Given the description of an element on the screen output the (x, y) to click on. 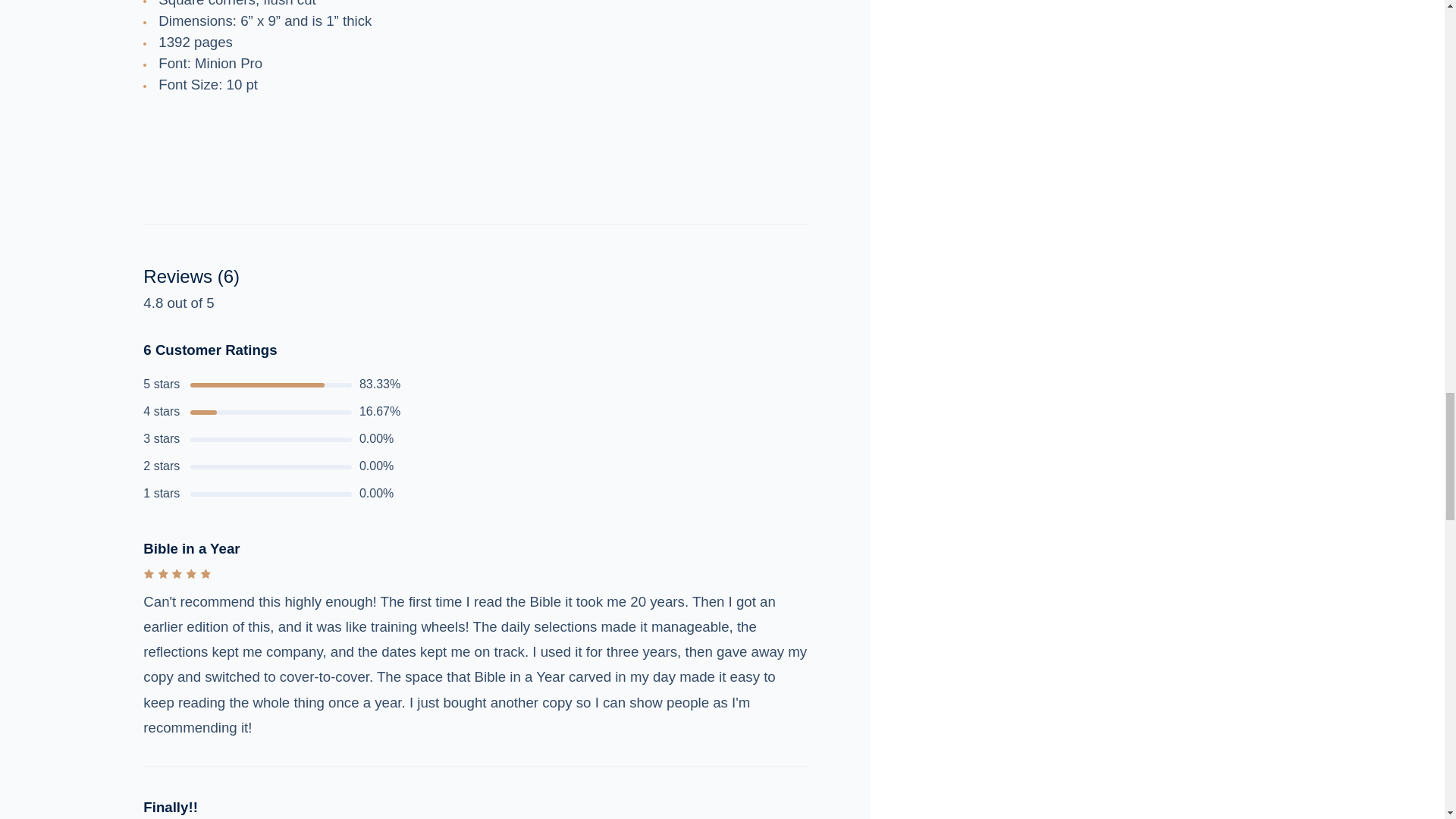
Page 7 (475, 170)
